Given the description of an element on the screen output the (x, y) to click on. 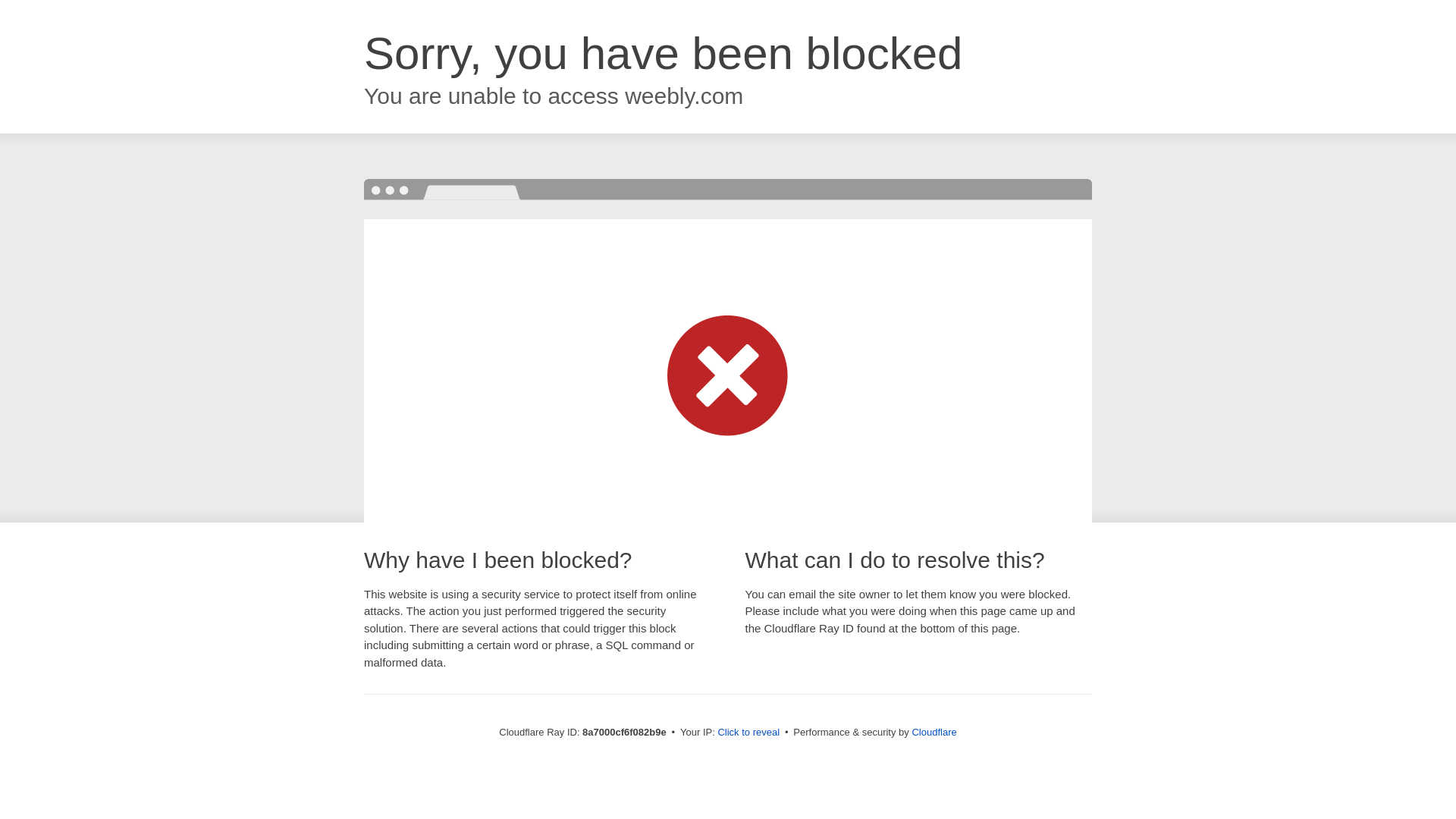
Click to reveal (747, 732)
Cloudflare (933, 731)
